Given the description of an element on the screen output the (x, y) to click on. 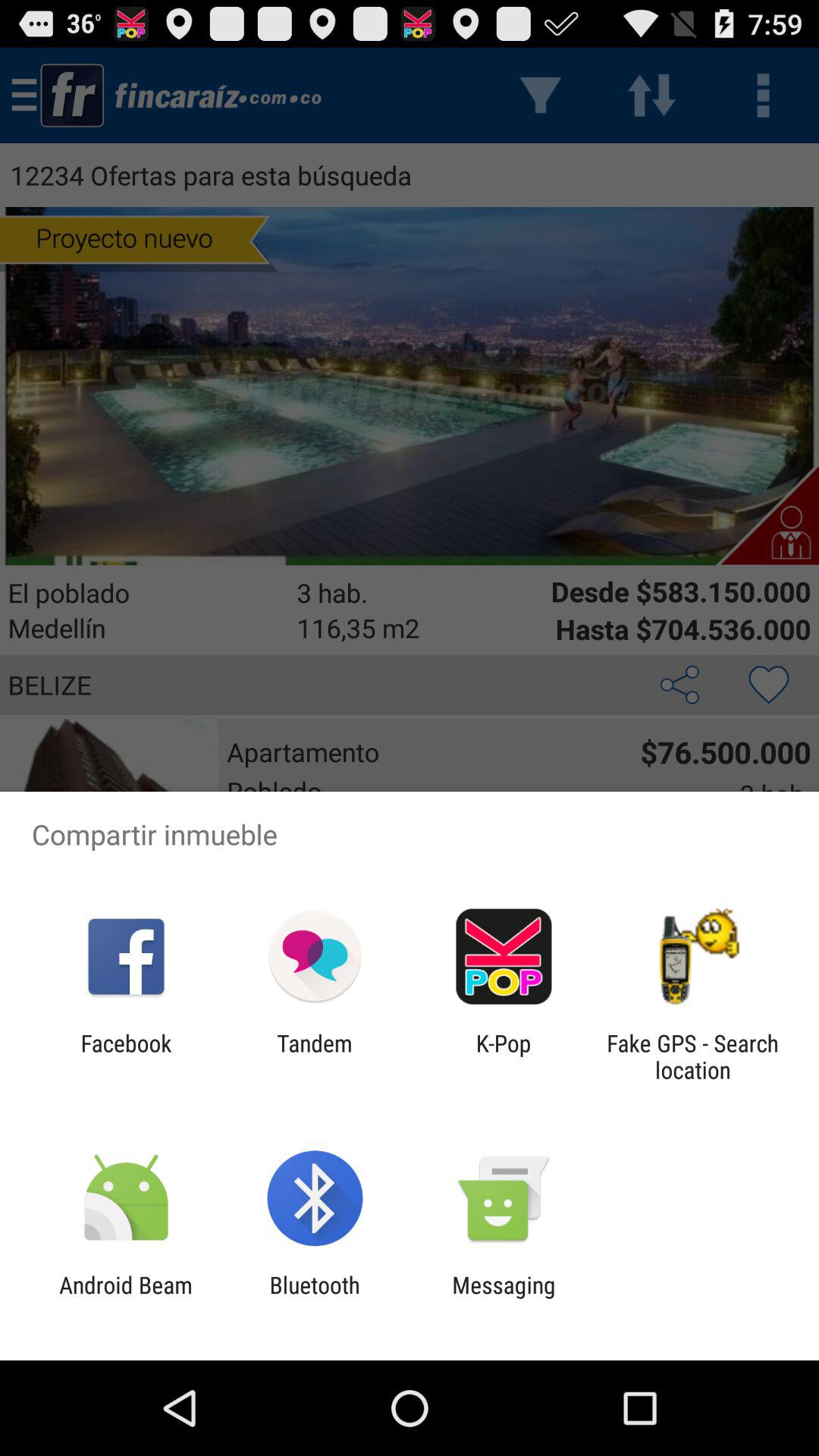
flip until fake gps search app (692, 1056)
